Given the description of an element on the screen output the (x, y) to click on. 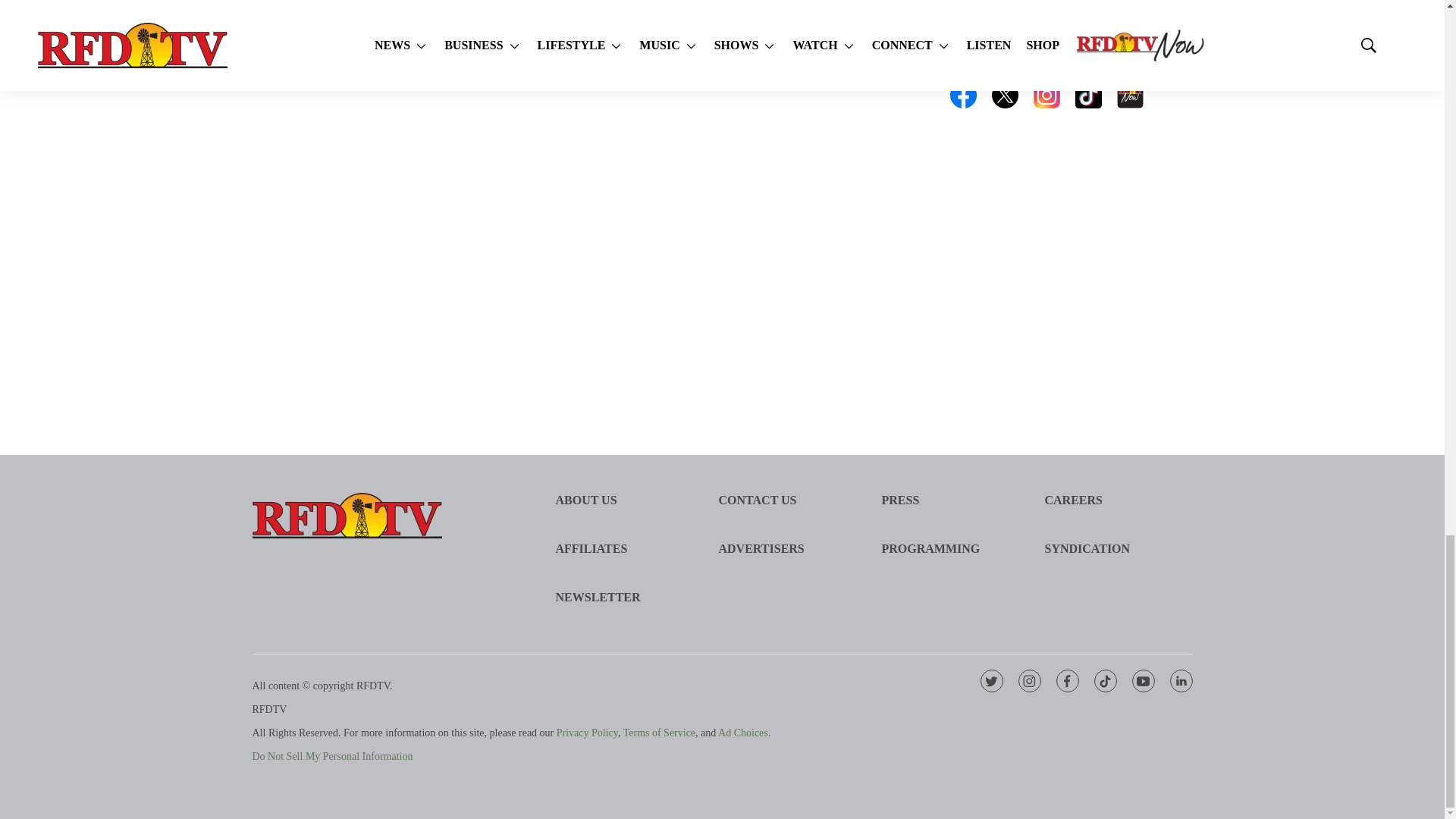
Signup Widget Embed (1070, 228)
